Given the description of an element on the screen output the (x, y) to click on. 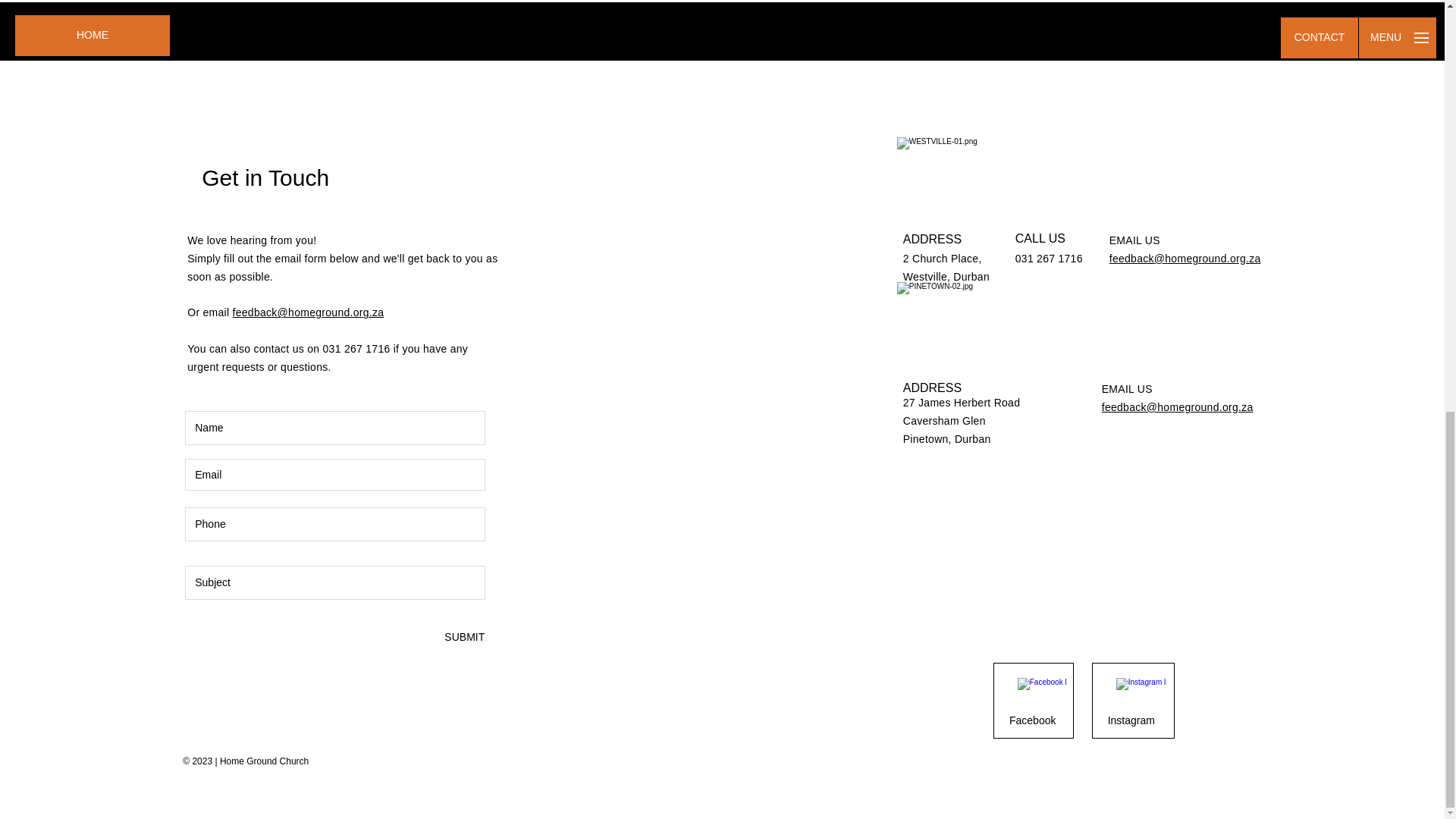
Instagram (1130, 720)
SUBMIT (463, 636)
Facebook (1032, 720)
